Given the description of an element on the screen output the (x, y) to click on. 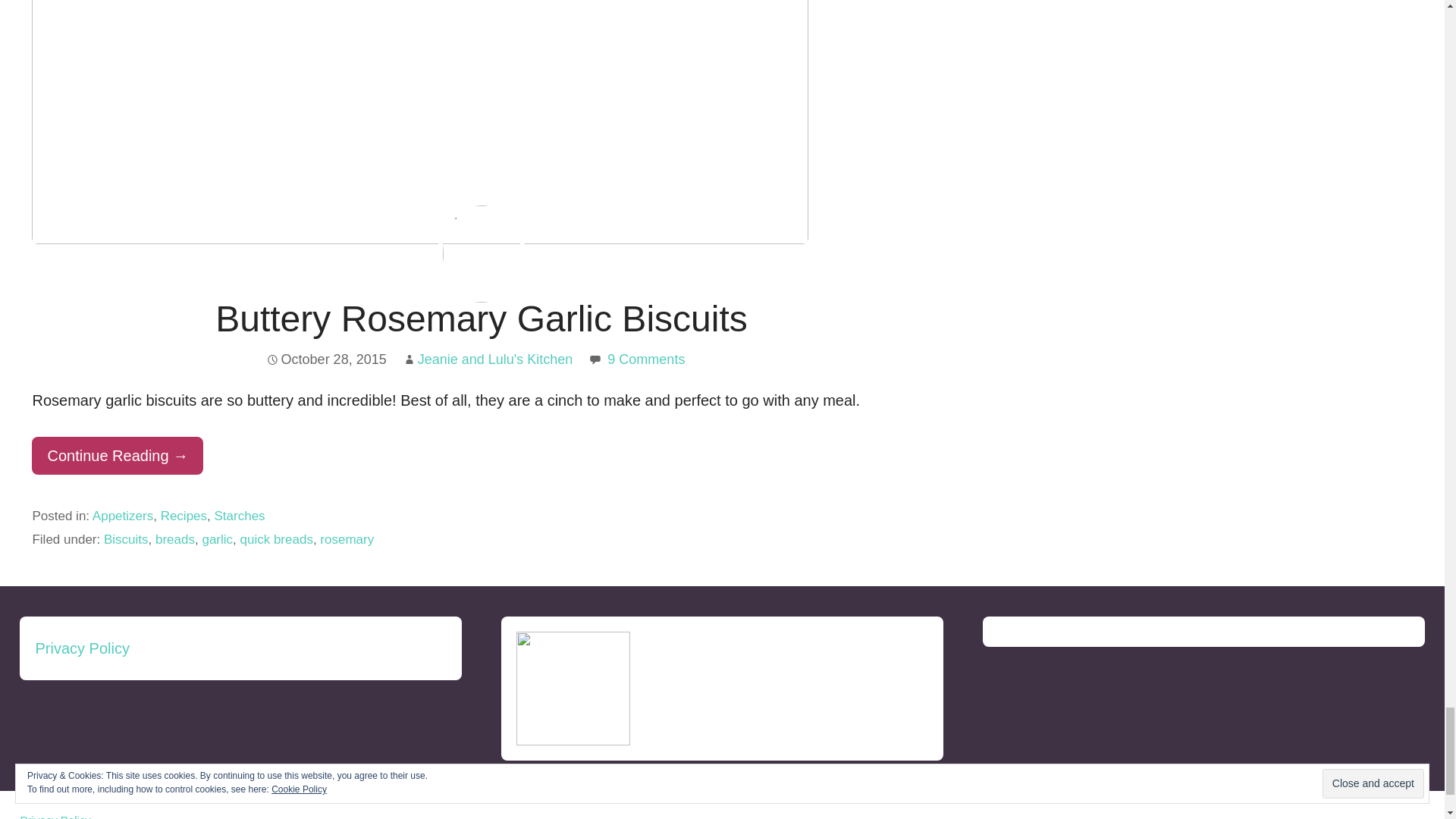
Posts by Jeanie and Lulu's Kitchen (495, 359)
